Given the description of an element on the screen output the (x, y) to click on. 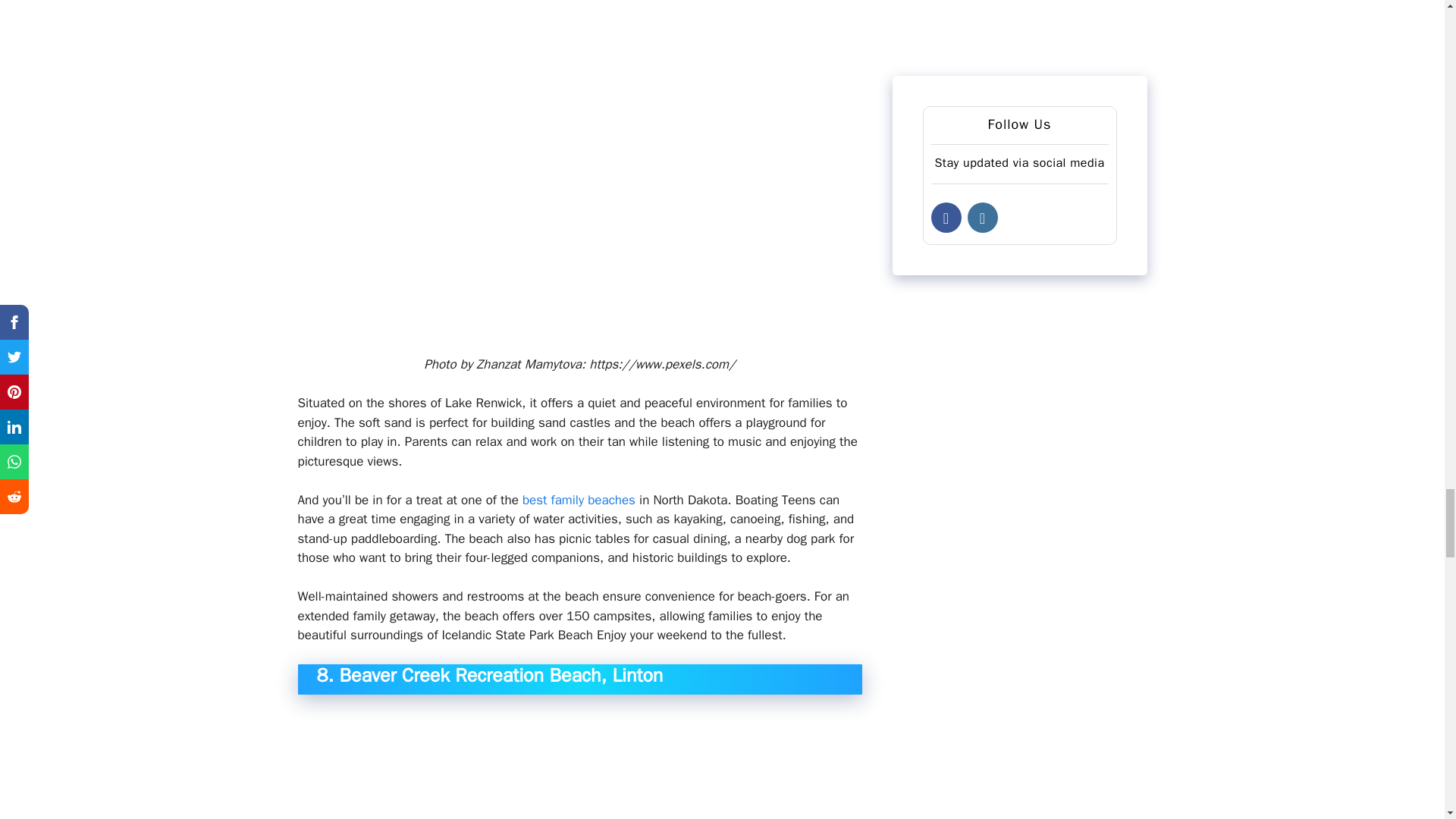
Best Family Beaches in North Dakota 9 (579, 764)
